Given the description of an element on the screen output the (x, y) to click on. 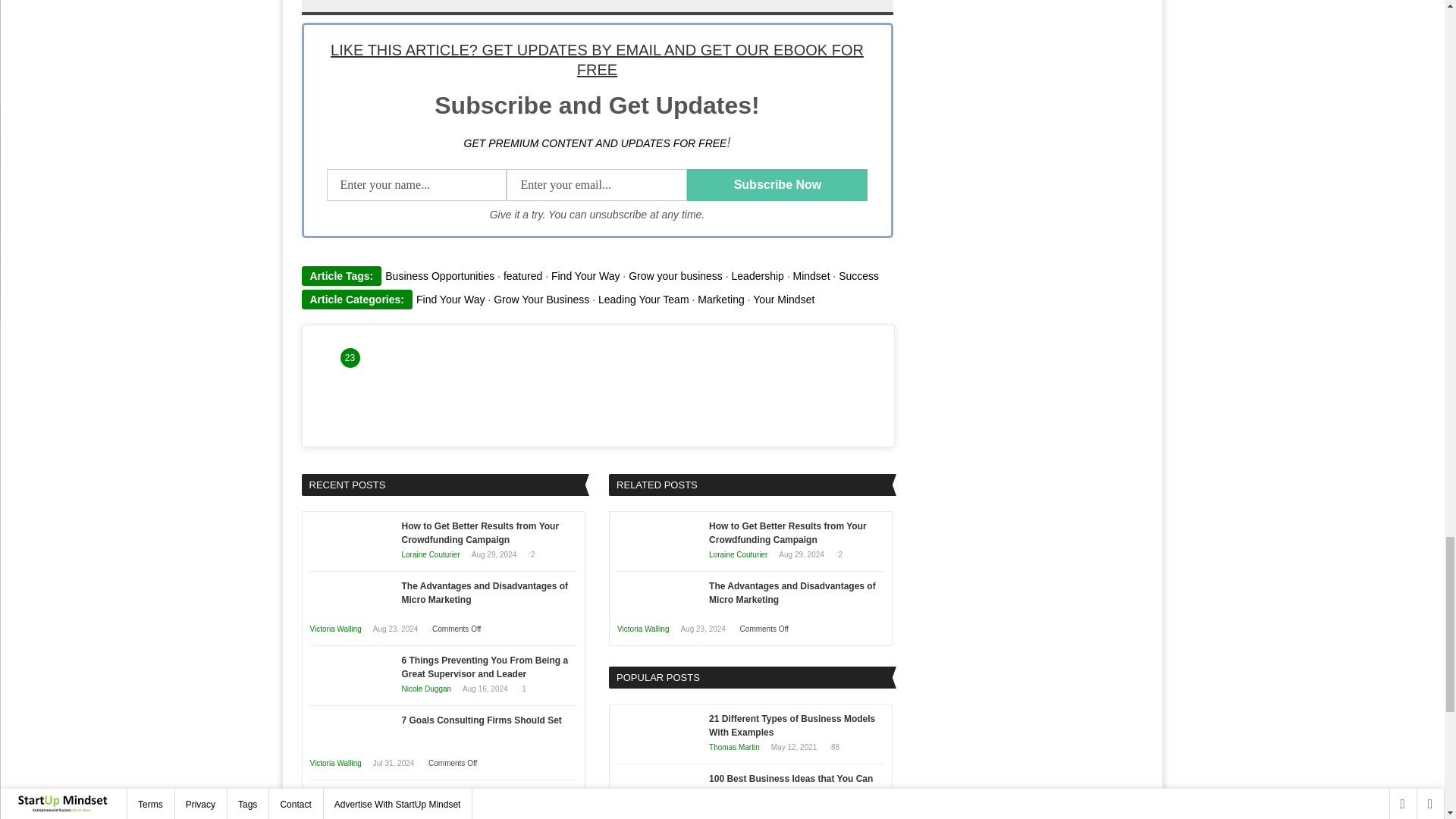
Success (858, 275)
Grow your business (675, 275)
Grow Your Business (541, 299)
Posts by Thomas Martin (734, 746)
Mindset (811, 275)
Posts by Nicole Duggan (426, 688)
Posts by Loraine Couturier (430, 554)
Posts by Thomas Martin (734, 807)
Subscribe Now (777, 184)
featured (522, 275)
